Given the description of an element on the screen output the (x, y) to click on. 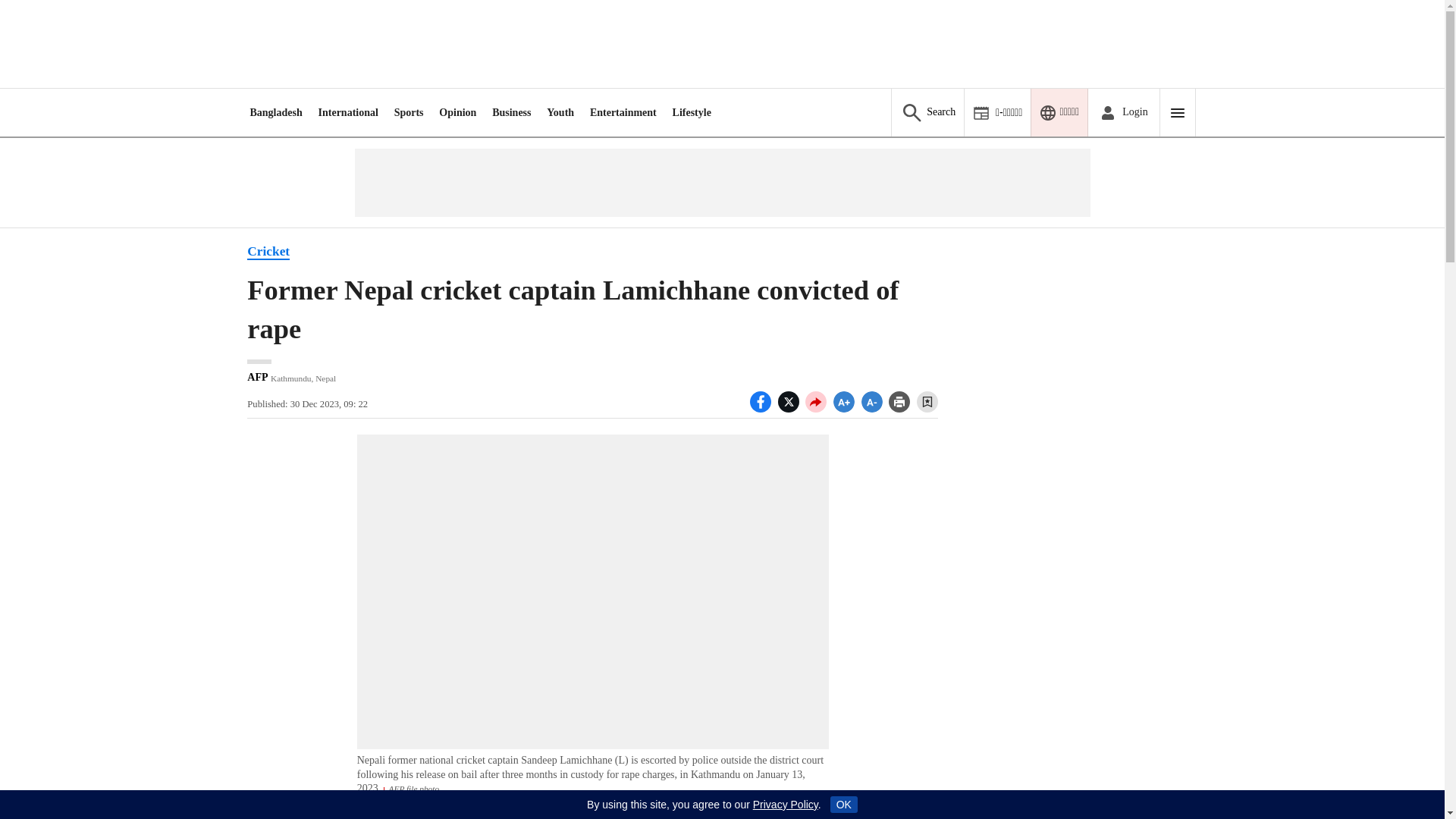
Lifestyle (691, 112)
Bangladesh (274, 112)
Entertainment (622, 112)
Sports (408, 112)
Login (1122, 112)
Search (926, 112)
Opinion (457, 112)
International (348, 112)
Cricket (268, 252)
Privacy Policy (785, 804)
OK (843, 804)
Youth (560, 112)
Business (511, 112)
